Given the description of an element on the screen output the (x, y) to click on. 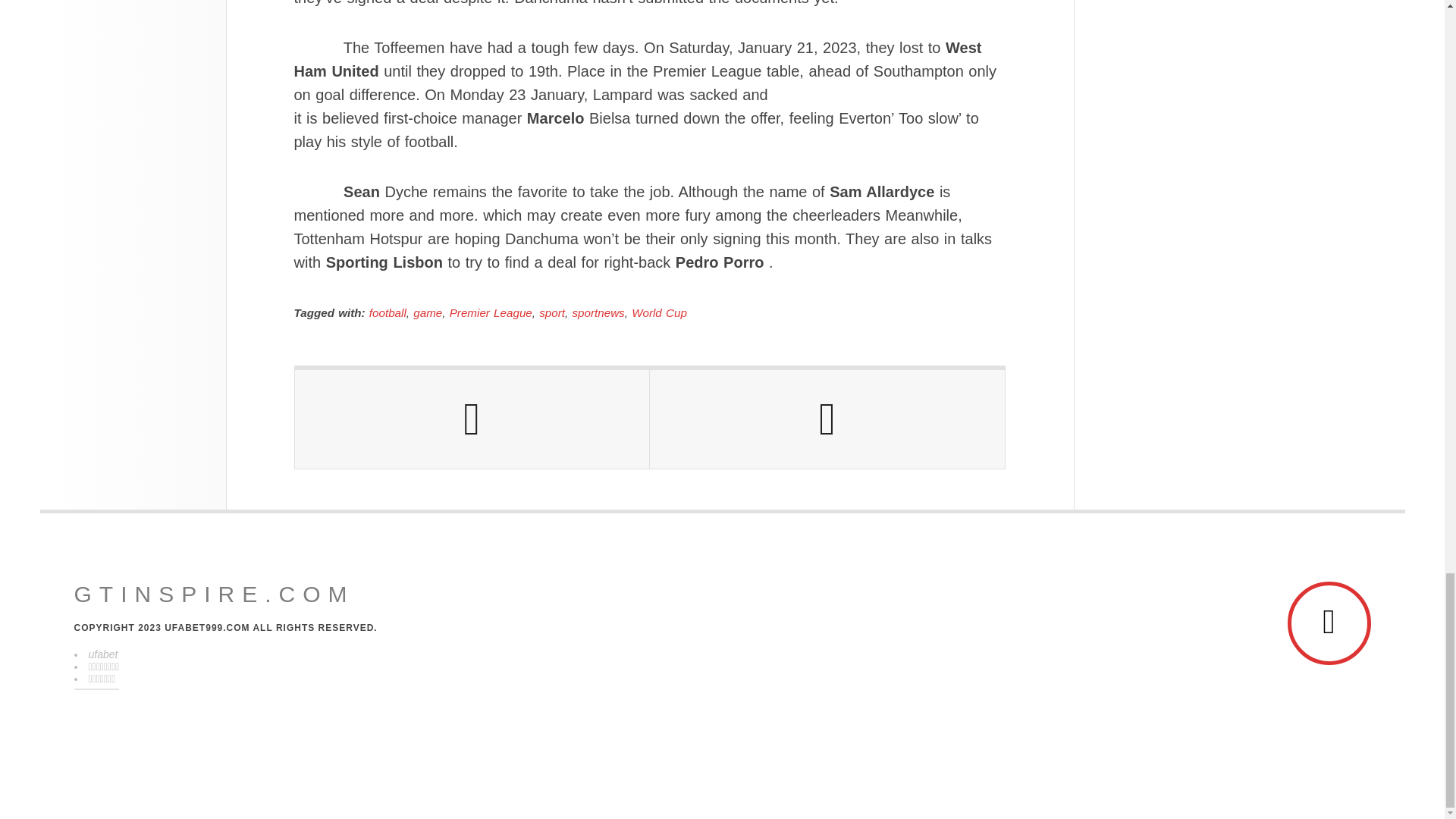
World Cup (659, 312)
Next Post (826, 419)
Previous Post (471, 419)
sport (551, 312)
ufabet (102, 654)
sportnews (598, 312)
gtinspire.com (214, 594)
GTINSPIRE.COM (214, 594)
Premier League (490, 312)
football (387, 312)
game (427, 312)
